Given the description of an element on the screen output the (x, y) to click on. 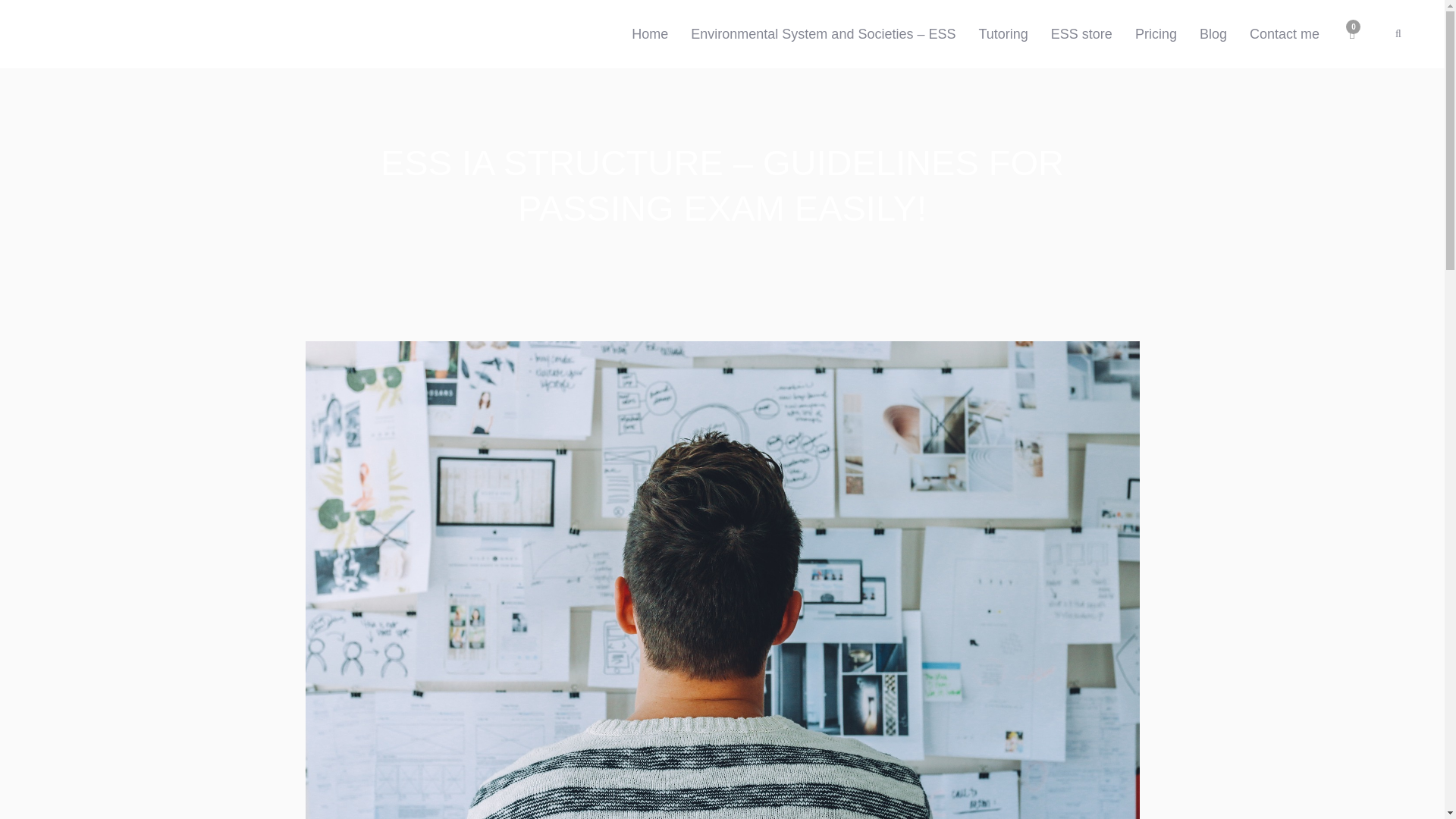
Contact me (1284, 33)
ESS store (1081, 33)
Tutoring (1002, 33)
Pricing (1156, 33)
